Given the description of an element on the screen output the (x, y) to click on. 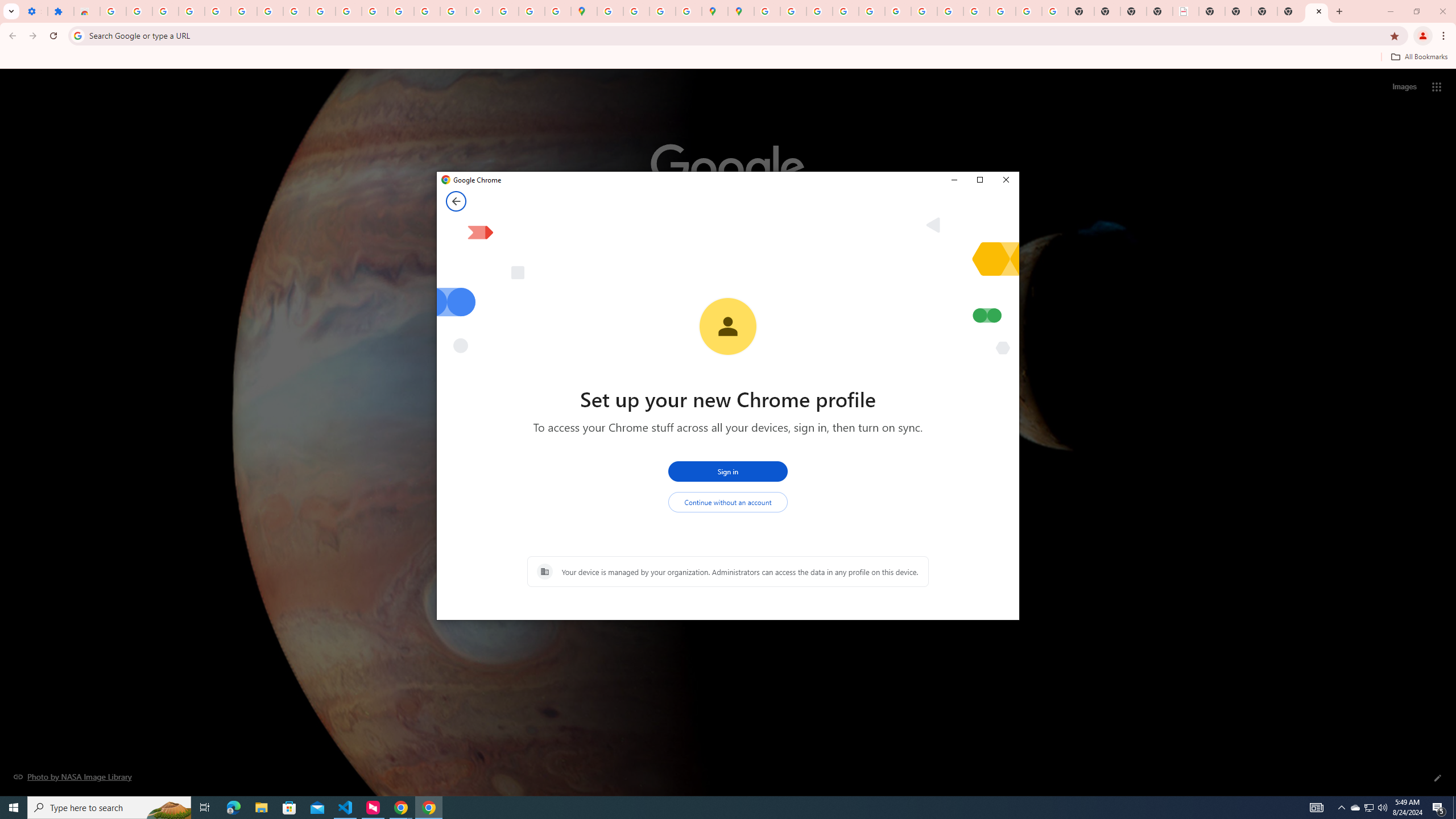
Safety in Our Products - Google Safety Center (689, 11)
https://scholar.google.com/ (374, 11)
AutomationID: 4105 (1316, 807)
Google Chrome - 1 running window (428, 807)
Reviews: Helix Fruit Jump Arcade Game (86, 11)
